Given the description of an element on the screen output the (x, y) to click on. 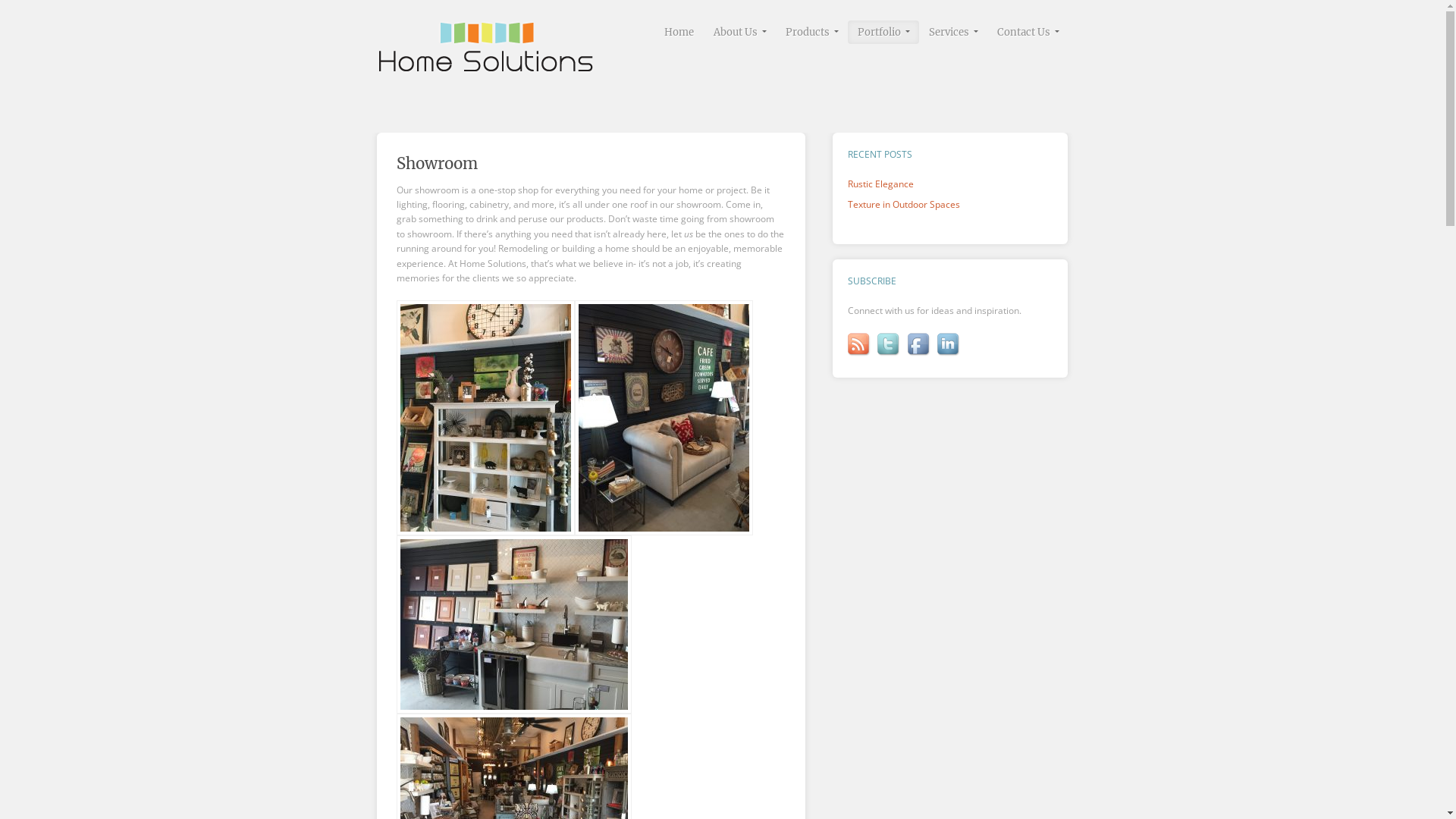
LinkedIn Element type: hover (949, 344)
Rustic Elegance Element type: text (880, 183)
About Us Element type: text (739, 31)
Home Element type: text (677, 31)
Services Element type: text (953, 31)
Contact Us Element type: text (1027, 31)
Portfolio Element type: text (883, 31)
Twitter Element type: hover (889, 344)
RSS Element type: hover (859, 344)
Texture in Outdoor Spaces Element type: text (903, 203)
Facebook Element type: hover (919, 344)
Design, Product Showroom, Sales and Installations Element type: hover (485, 65)
Products Element type: text (811, 31)
